Given the description of an element on the screen output the (x, y) to click on. 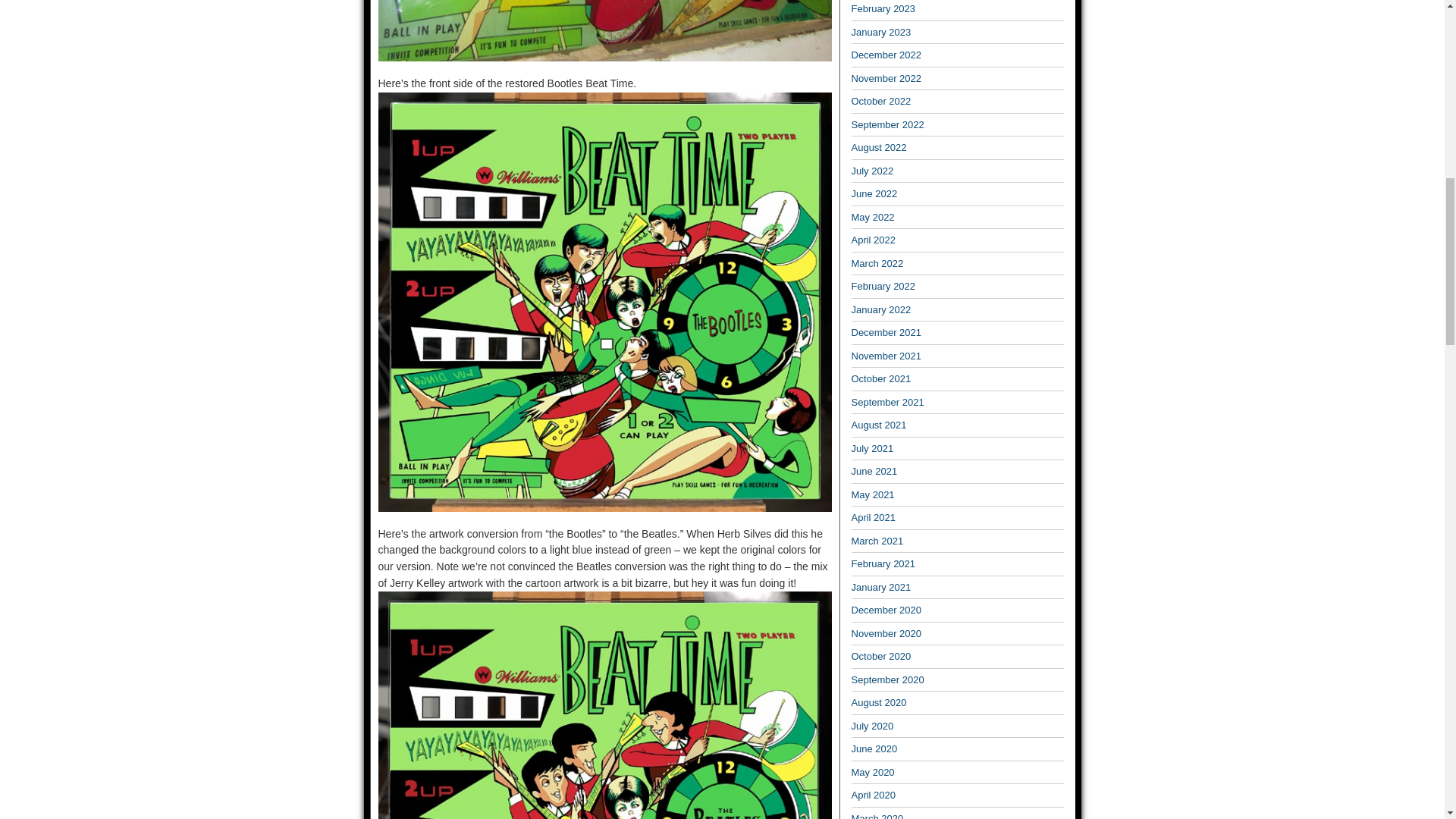
January 2023 (880, 31)
December 2022 (885, 54)
November 2022 (885, 78)
October 2022 (880, 101)
June 2022 (873, 193)
July 2022 (871, 170)
February 2023 (882, 8)
August 2022 (877, 147)
September 2022 (886, 124)
